Given the description of an element on the screen output the (x, y) to click on. 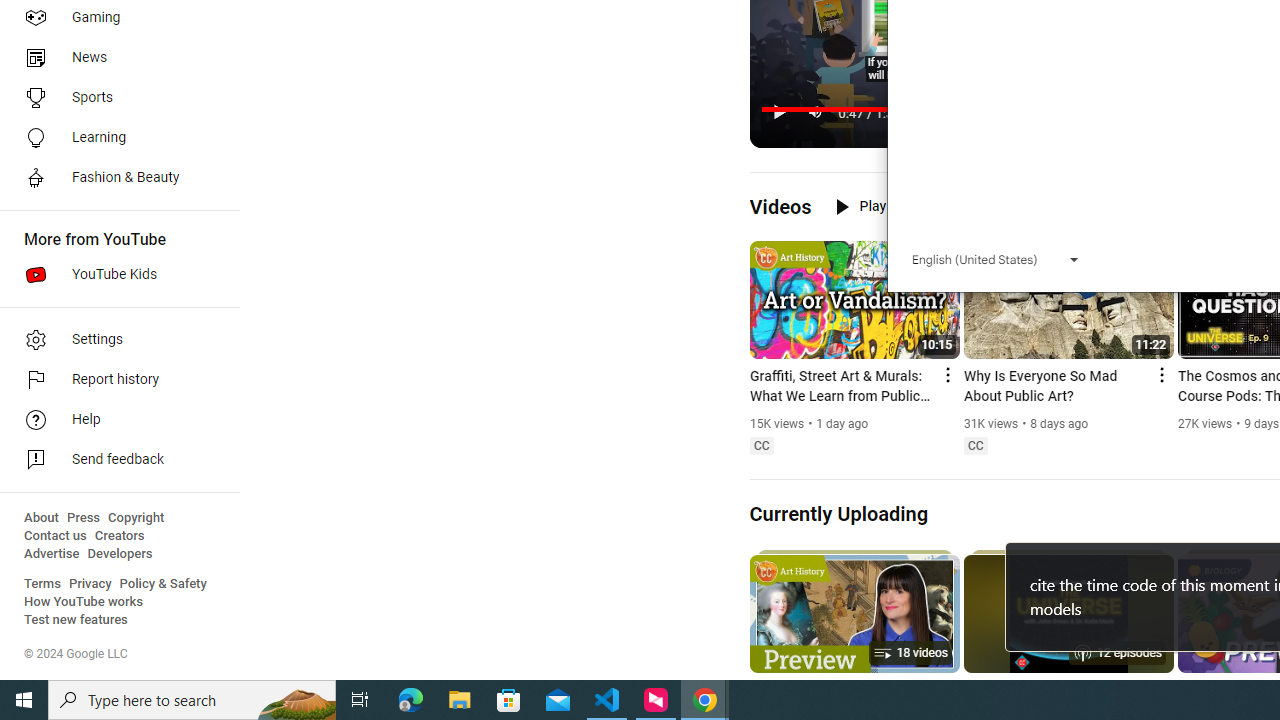
How YouTube works (83, 602)
Policy & Safety (163, 584)
Visual Studio Code - 1 running window (607, 699)
Sports (113, 97)
Advertise (51, 554)
Contact us (55, 536)
Creators (118, 536)
Videos (779, 206)
Closed captions (975, 446)
Learning (113, 137)
News (113, 57)
Type here to search (191, 699)
Test new features (76, 620)
Developers (120, 554)
